Given the description of an element on the screen output the (x, y) to click on. 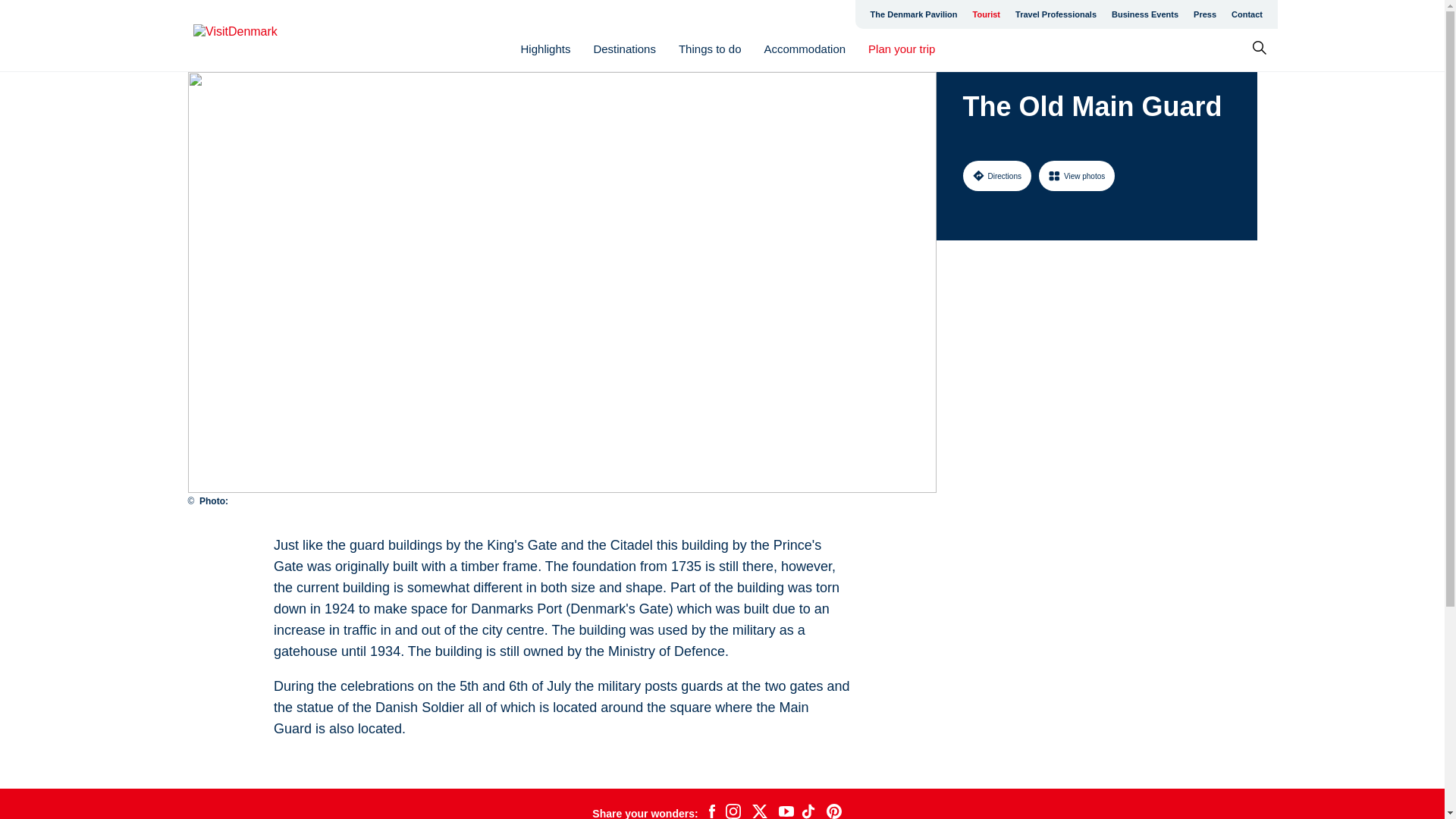
Go to homepage (253, 35)
Business Events (1144, 14)
Directions (996, 175)
Destinations (624, 48)
Tourist (986, 14)
Press (1205, 14)
Highlights (545, 48)
youtube (786, 812)
Things to do (709, 48)
Travel Professionals (1055, 14)
pinterest (834, 811)
The Denmark Pavilion (914, 14)
Plan your trip (900, 48)
instagram (732, 811)
facebook (711, 811)
